Given the description of an element on the screen output the (x, y) to click on. 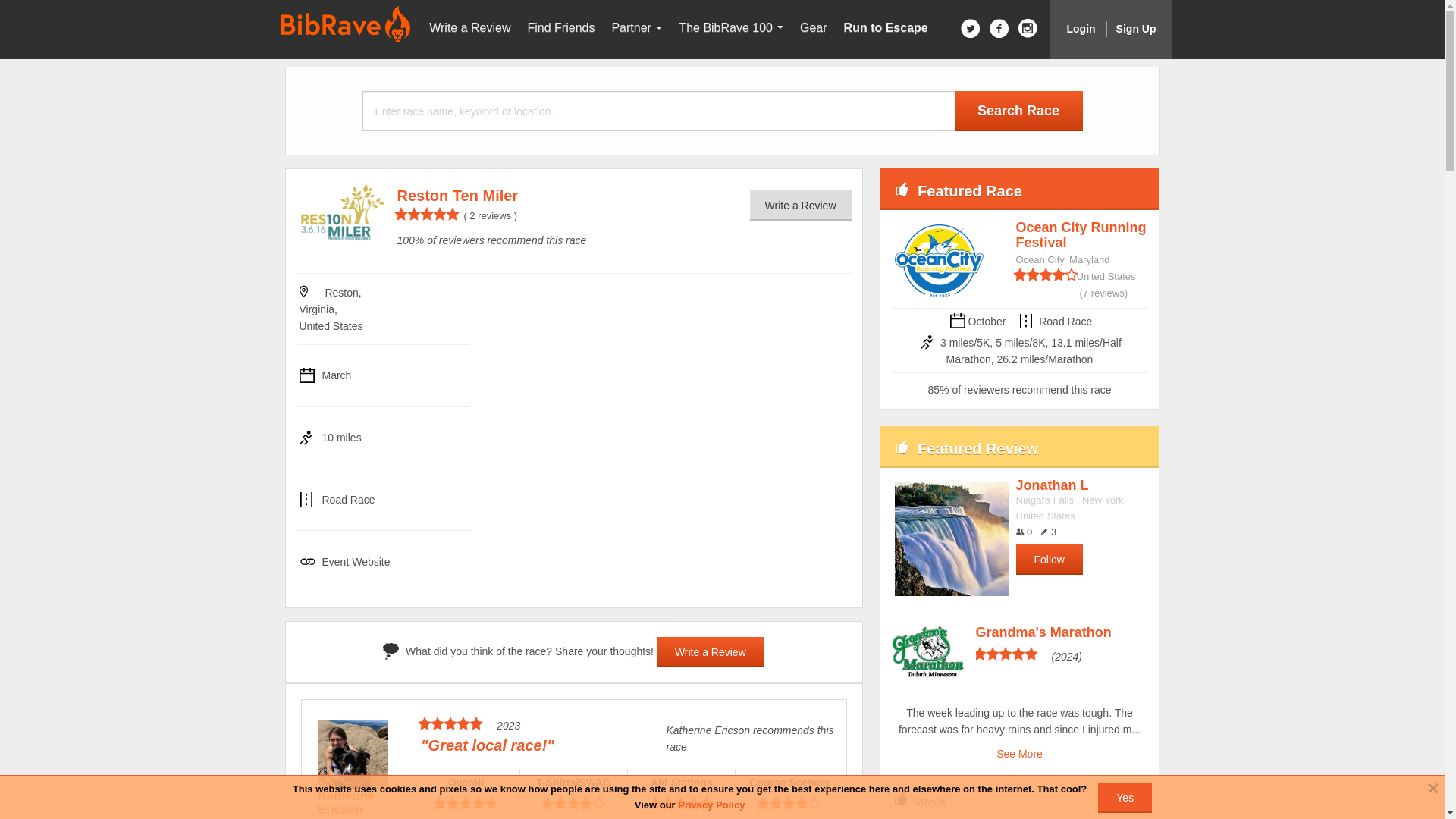
Facebook (999, 27)
Instagram (1026, 27)
Twitter (969, 27)
